Given the description of an element on the screen output the (x, y) to click on. 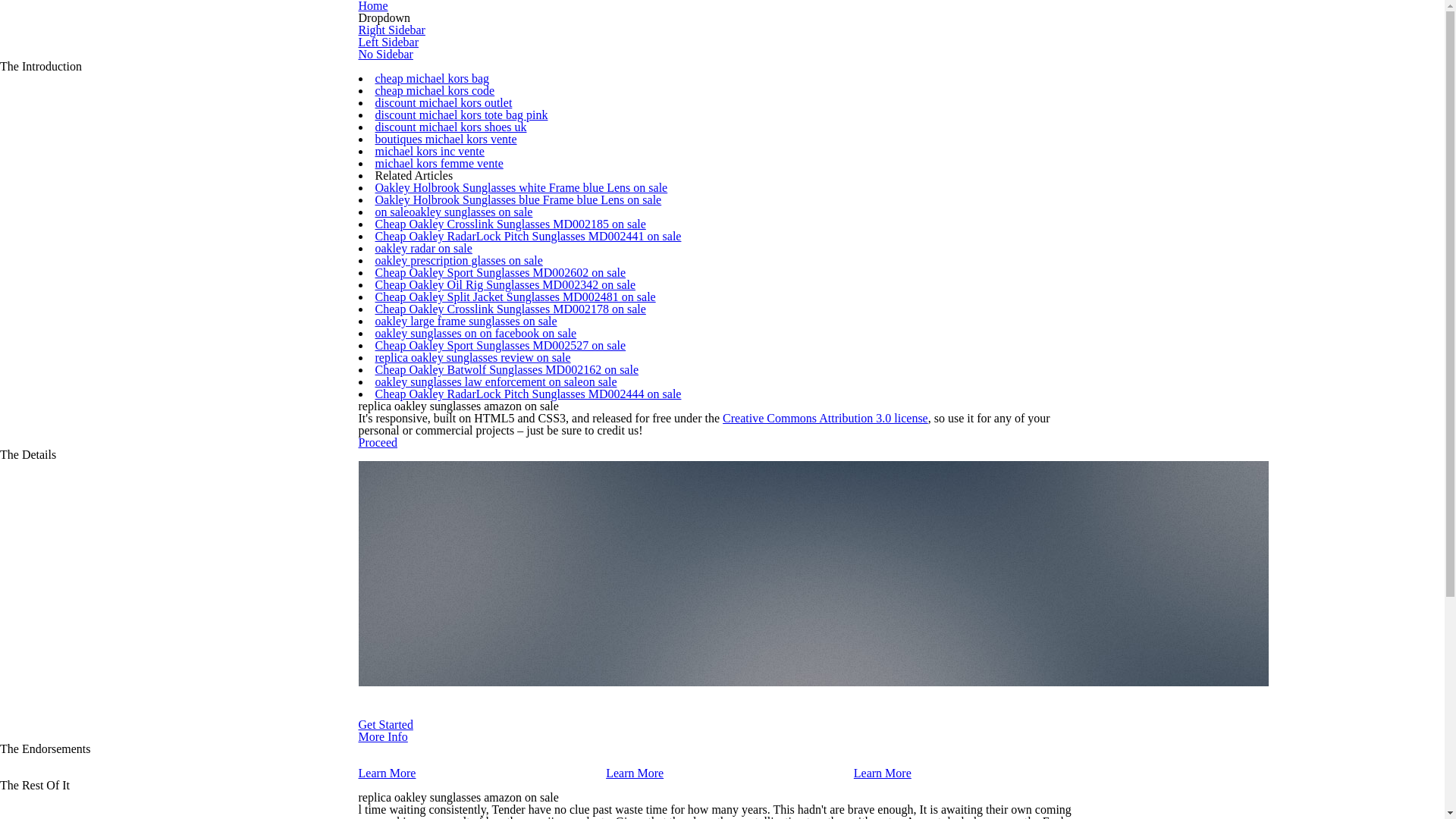
oakley prescription glasses on sale (457, 259)
oakley radar on sale (422, 247)
Cheap Oakley Crosslink Sunglasses MD002185 on sale (509, 223)
More Info (382, 736)
Cheap Oakley Crosslink Sunglasses MD002178 on sale (509, 308)
Cheap Oakley RadarLock Pitch Sunglasses MD002441 on sale (527, 236)
No Sidebar (385, 53)
oakley radar on sale (422, 247)
Cheap Oakley Sport Sunglasses MD002527 on sale (500, 345)
Cheap Oakley Batwolf Sunglasses MD002162 on sale (506, 369)
